Given the description of an element on the screen output the (x, y) to click on. 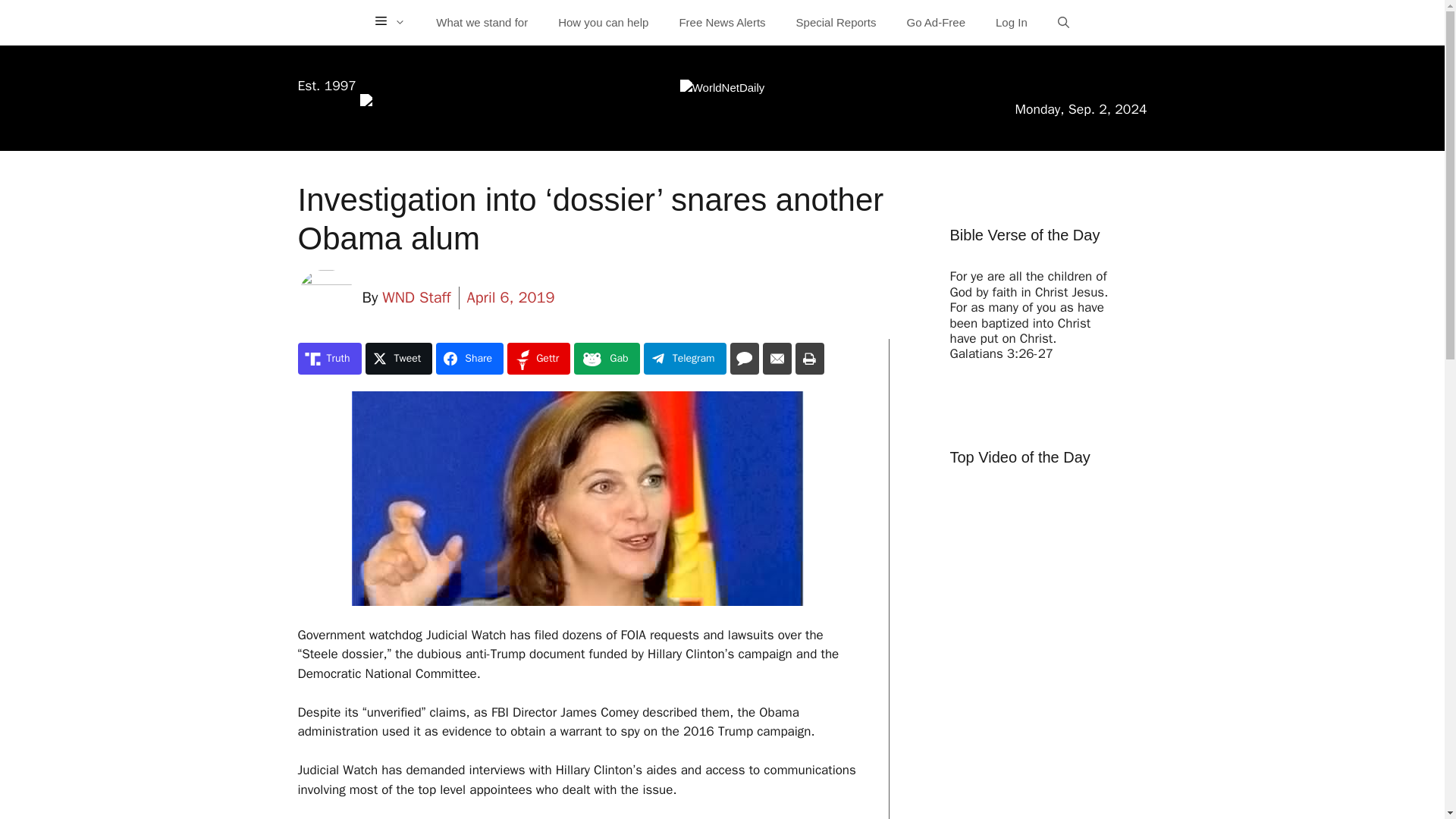
Share on Tweet (398, 358)
Share on Gab (606, 358)
Share on Truth (329, 358)
Share on Share (469, 358)
Share on Telegram (684, 358)
Share on Gettr (538, 358)
